Given the description of an element on the screen output the (x, y) to click on. 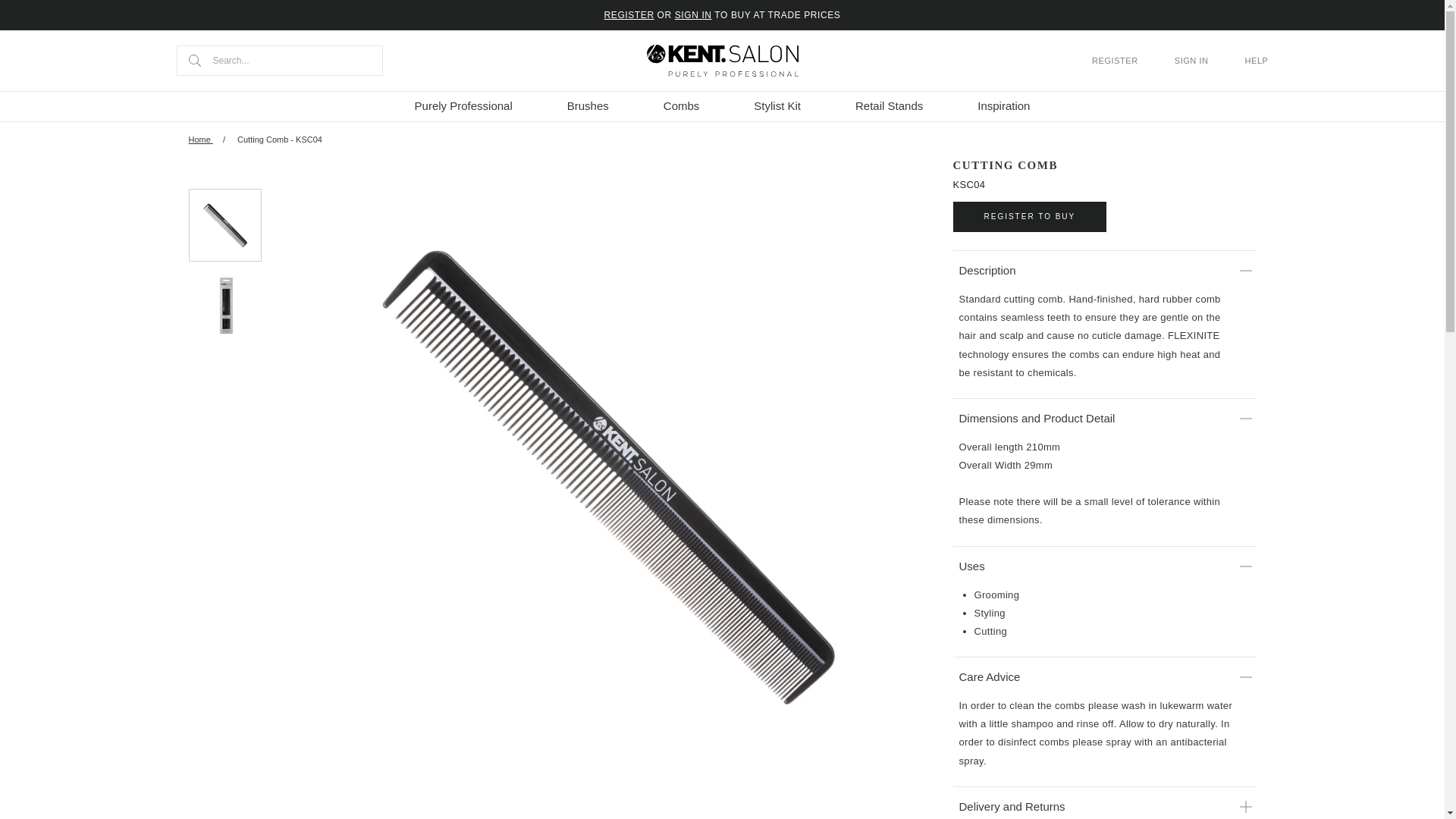
REGISTER (628, 14)
Back to the frontpage (199, 139)
SIGN IN (693, 14)
Combs (681, 105)
Brushes (587, 105)
Retail Stands (888, 105)
Stylist Kit (777, 105)
Register for an account (628, 14)
Inspiration (1002, 105)
Search (193, 60)
Sign into your account (693, 14)
Purely Professional (463, 105)
